Given the description of an element on the screen output the (x, y) to click on. 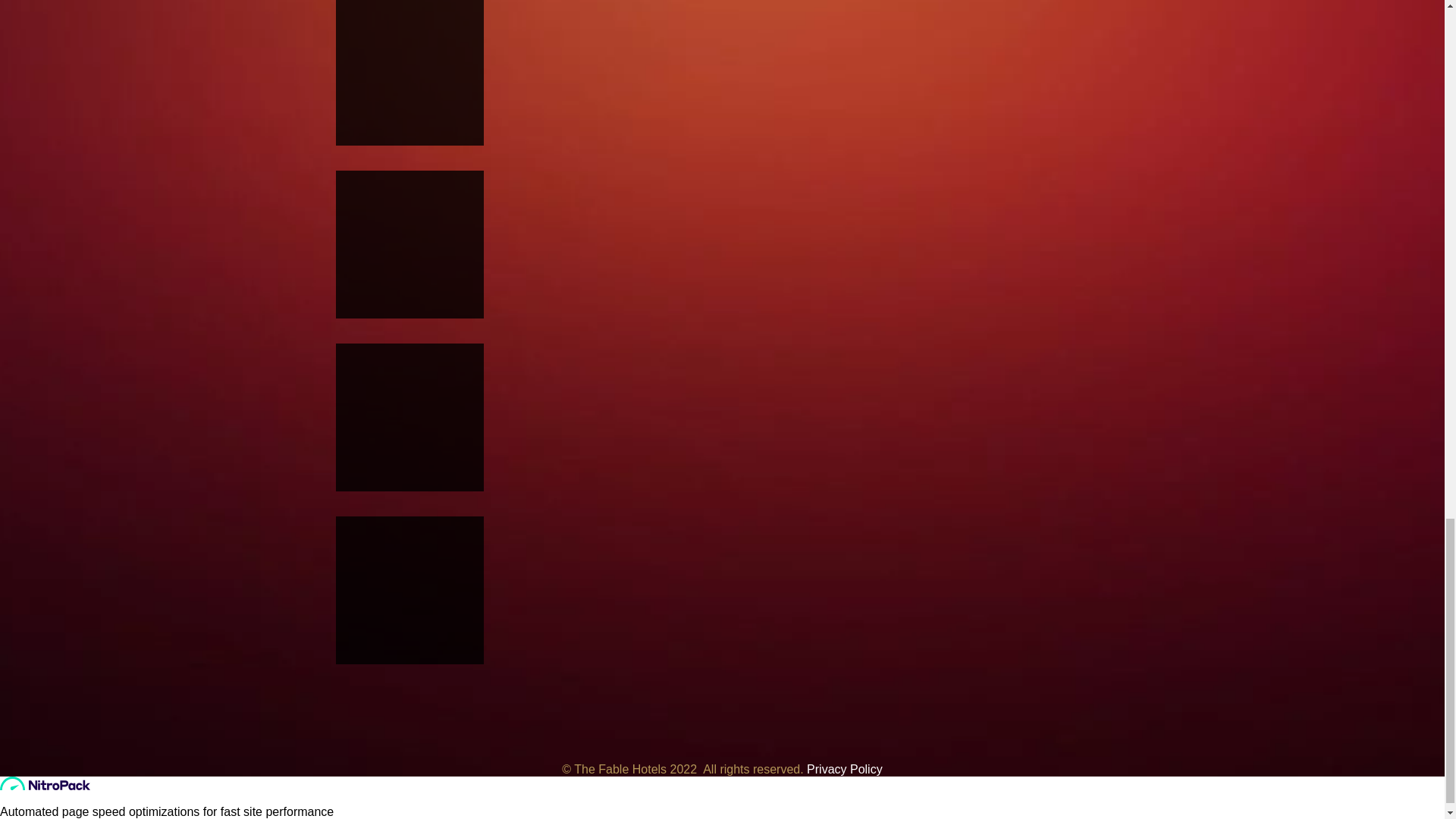
Twitter (1177, 753)
Pinterest (1226, 753)
LinkedIn (1274, 753)
WeChat (1323, 753)
WhatsApp (1372, 753)
Facebook (1129, 753)
Instagram (1081, 753)
